Given the description of an element on the screen output the (x, y) to click on. 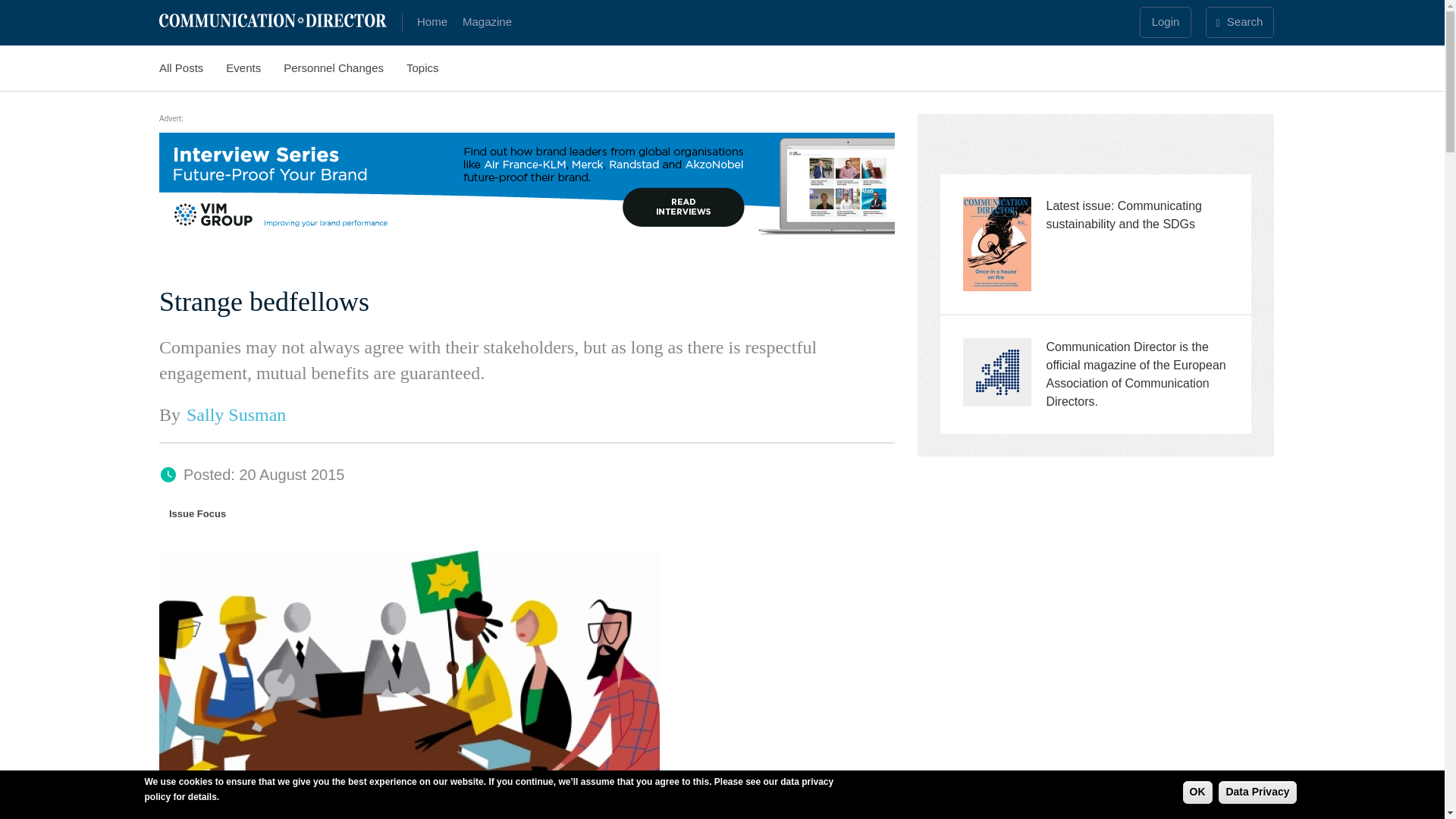
Events (254, 64)
All Posts (191, 64)
Magazine (484, 21)
Home (277, 20)
Home (429, 21)
Login (1165, 21)
Personnel Changes (344, 64)
Topics (433, 64)
Search (1239, 21)
